Given the description of an element on the screen output the (x, y) to click on. 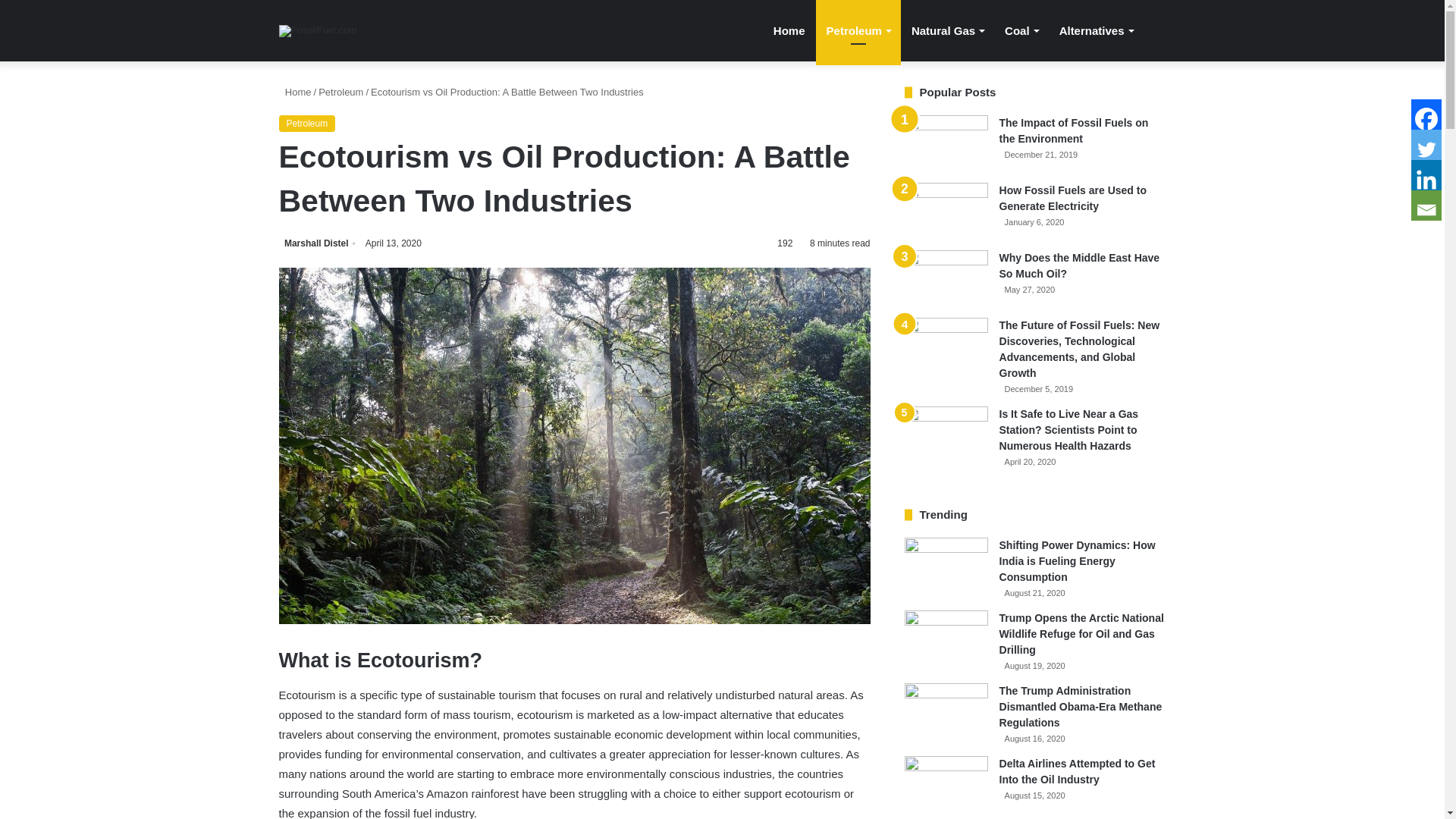
Facebook (1425, 114)
Petroleum (307, 123)
FossilFuel.com (317, 30)
Natural Gas (947, 30)
Petroleum (858, 30)
Home (295, 91)
Alternatives (1095, 30)
Marshall Distel (319, 243)
Email (1425, 205)
Linkedin (1425, 174)
